Given the description of an element on the screen output the (x, y) to click on. 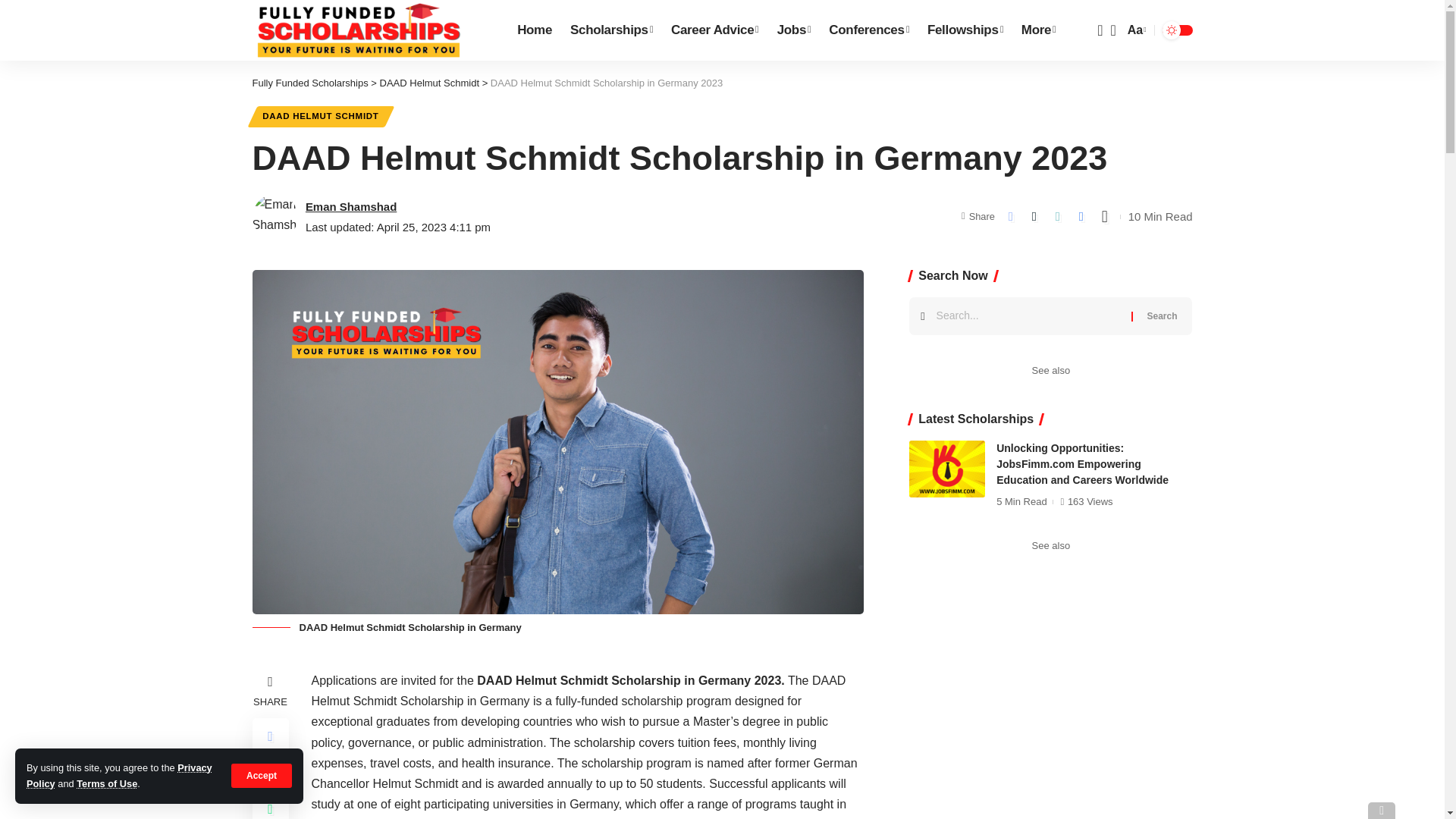
Conferences (868, 30)
Scholarships (611, 30)
Fully Funded Scholarships (357, 30)
Privacy Policy (119, 775)
Career Advice (715, 30)
Home (534, 30)
Jobs (794, 30)
Search (1161, 315)
Accept (261, 775)
Terms of Use (106, 783)
